Given the description of an element on the screen output the (x, y) to click on. 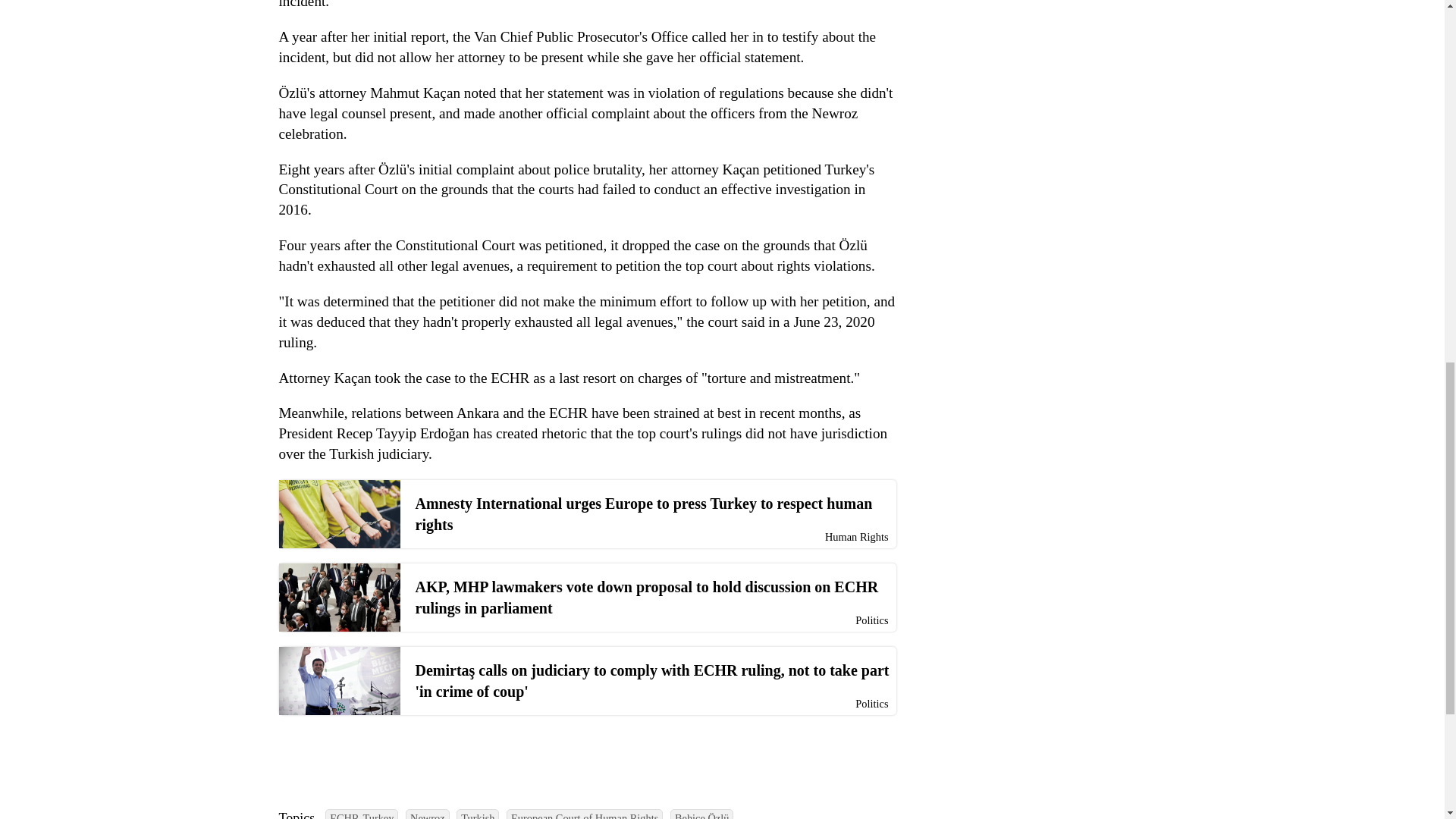
Newroz (427, 814)
ECHR-Turkey (360, 814)
Newroz (427, 814)
European Court of Human Rights (584, 814)
Turkish (478, 814)
ECHR-Turkey (360, 814)
